Given the description of an element on the screen output the (x, y) to click on. 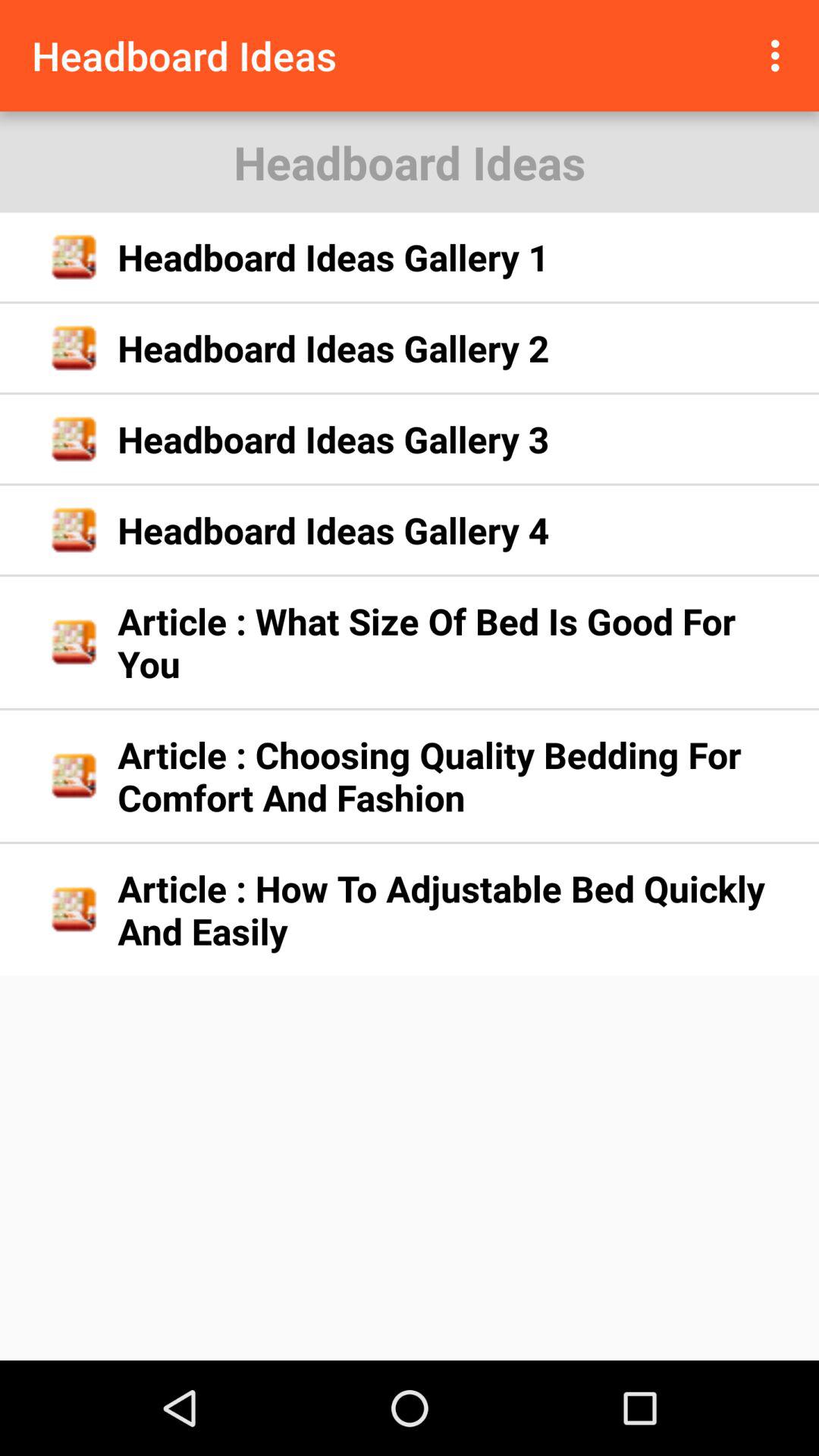
turn off icon at the top right corner (779, 55)
